Given the description of an element on the screen output the (x, y) to click on. 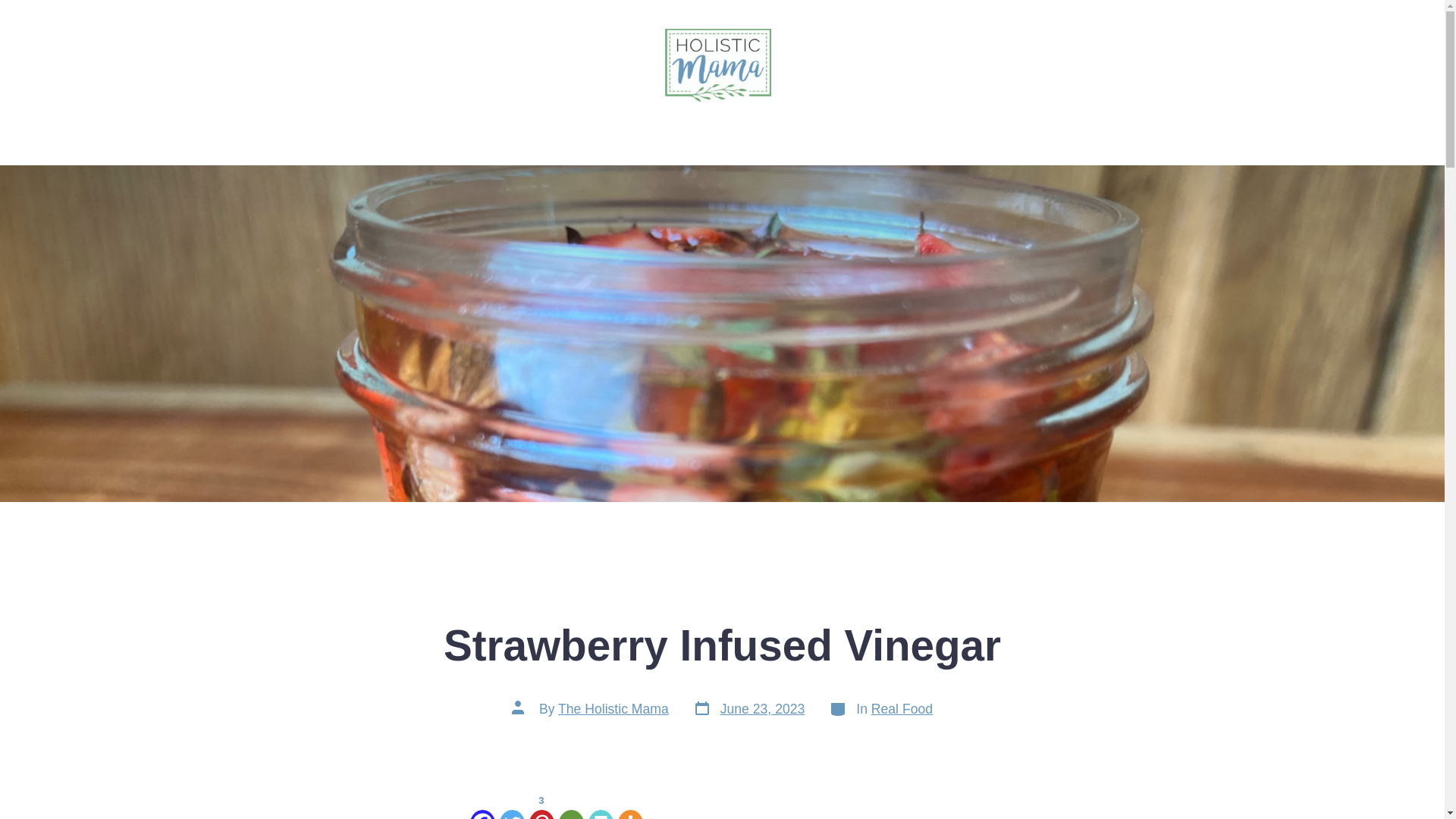
Search Toggle (70, 81)
More (630, 805)
Twitter (512, 805)
Email (571, 805)
Resources (749, 709)
Real Food (778, 124)
Facebook (901, 708)
Make Remedies (481, 805)
The Holistic Mama (598, 124)
PrintFriendly (612, 708)
Pinterest (599, 805)
Free Skin Care Recipe Book (540, 805)
3 (934, 124)
About (540, 805)
